Given the description of an element on the screen output the (x, y) to click on. 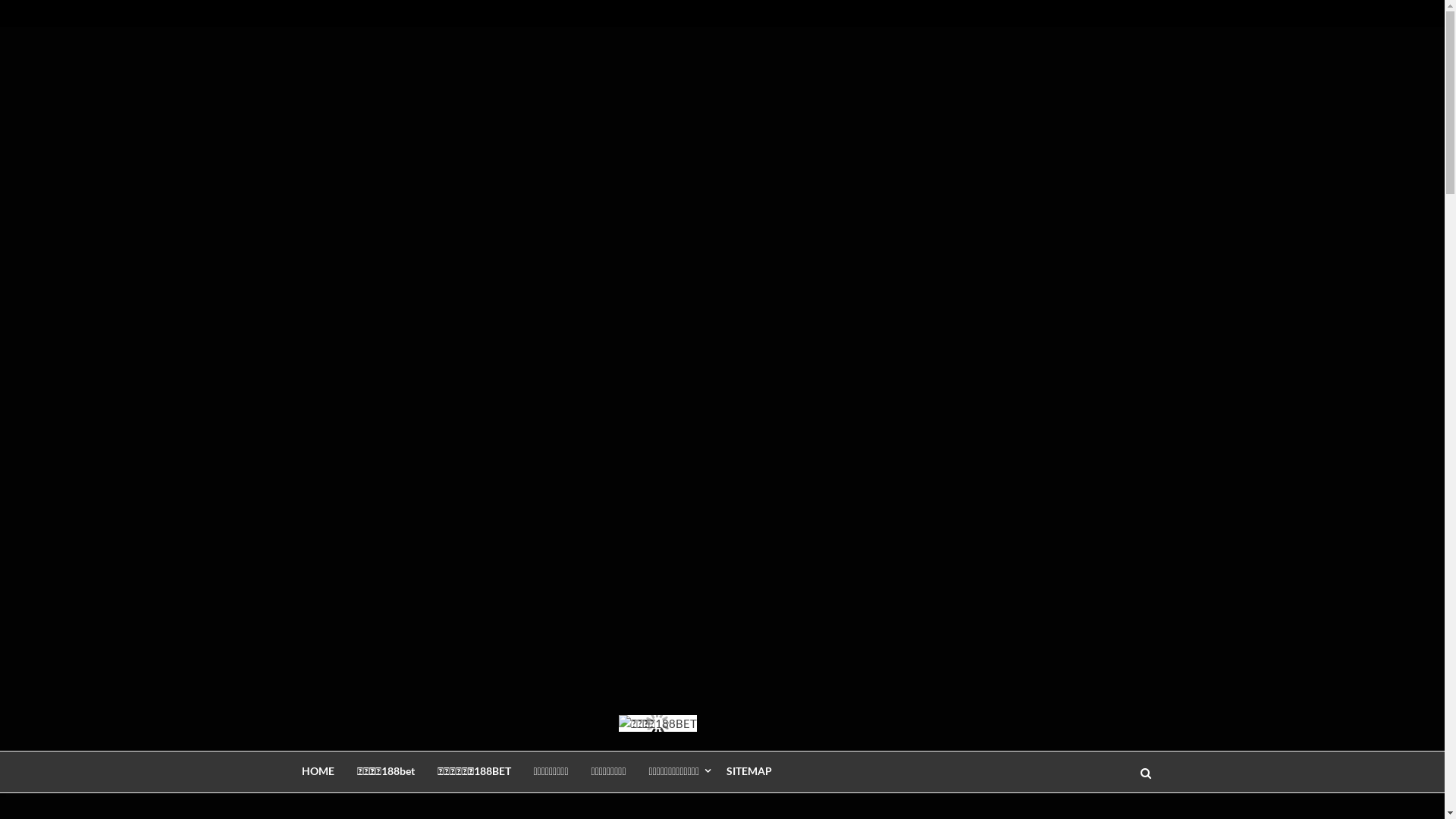
188Bet Element type: text (317, 726)
SITEMAP Element type: text (749, 770)
HOME Element type: text (317, 770)
